Given the description of an element on the screen output the (x, y) to click on. 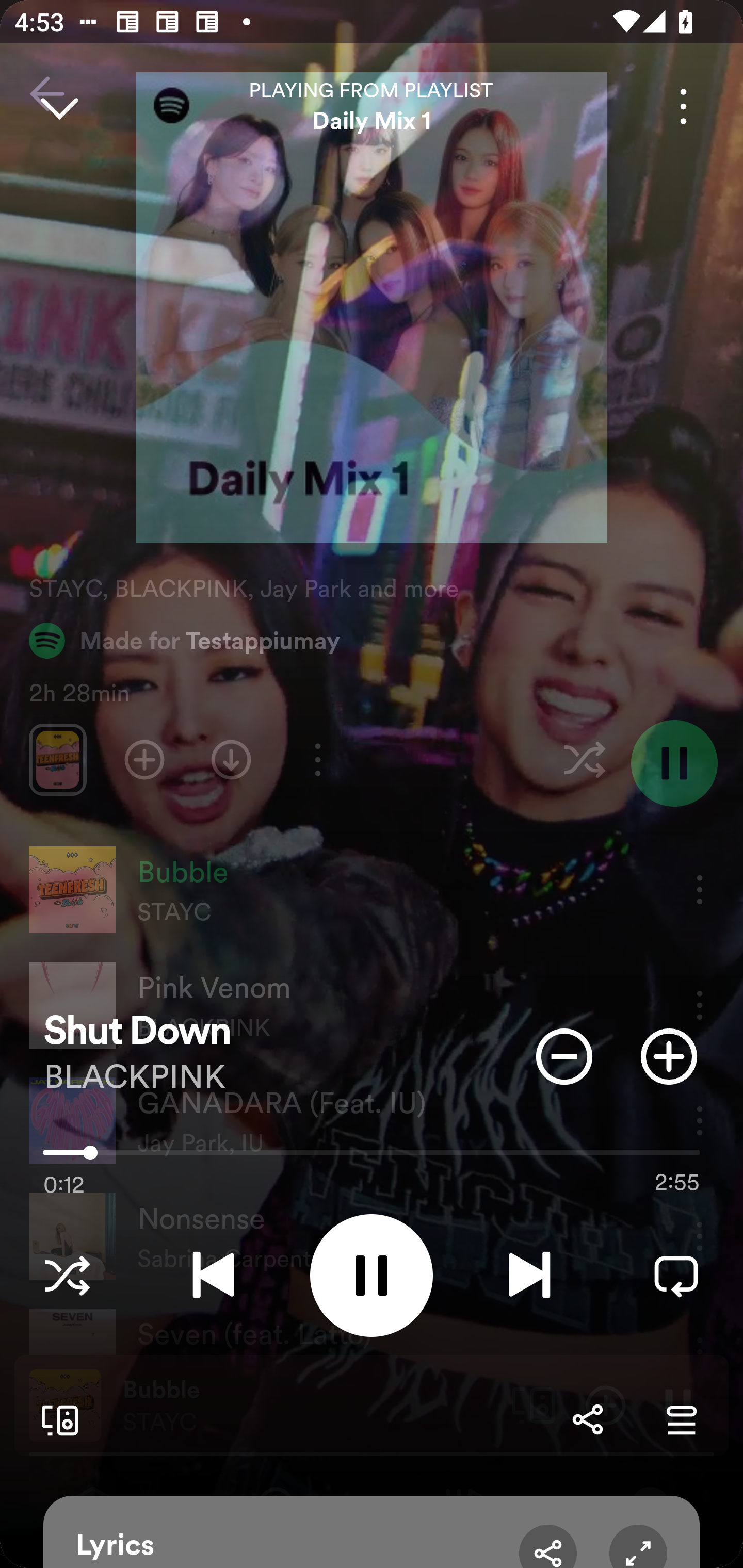
Close (59, 106)
More options for song Shut Down (683, 106)
PLAYING FROM PLAYLIST Daily Mix 1 (371, 106)
Don't play this (564, 1056)
Add item (669, 1056)
0:12 2:55 12245.0 Use volume keys to adjust (371, 1157)
Pause (371, 1275)
Previous (212, 1275)
Next (529, 1275)
Shuffle tracks (66, 1275)
Repeat (676, 1275)
Share (587, 1419)
Go to Queue (681, 1419)
Connect to a device. Opens the devices menu (55, 1419)
Lyrics Share Expand (371, 1531)
Share (547, 1546)
Expand (638, 1546)
